Given the description of an element on the screen output the (x, y) to click on. 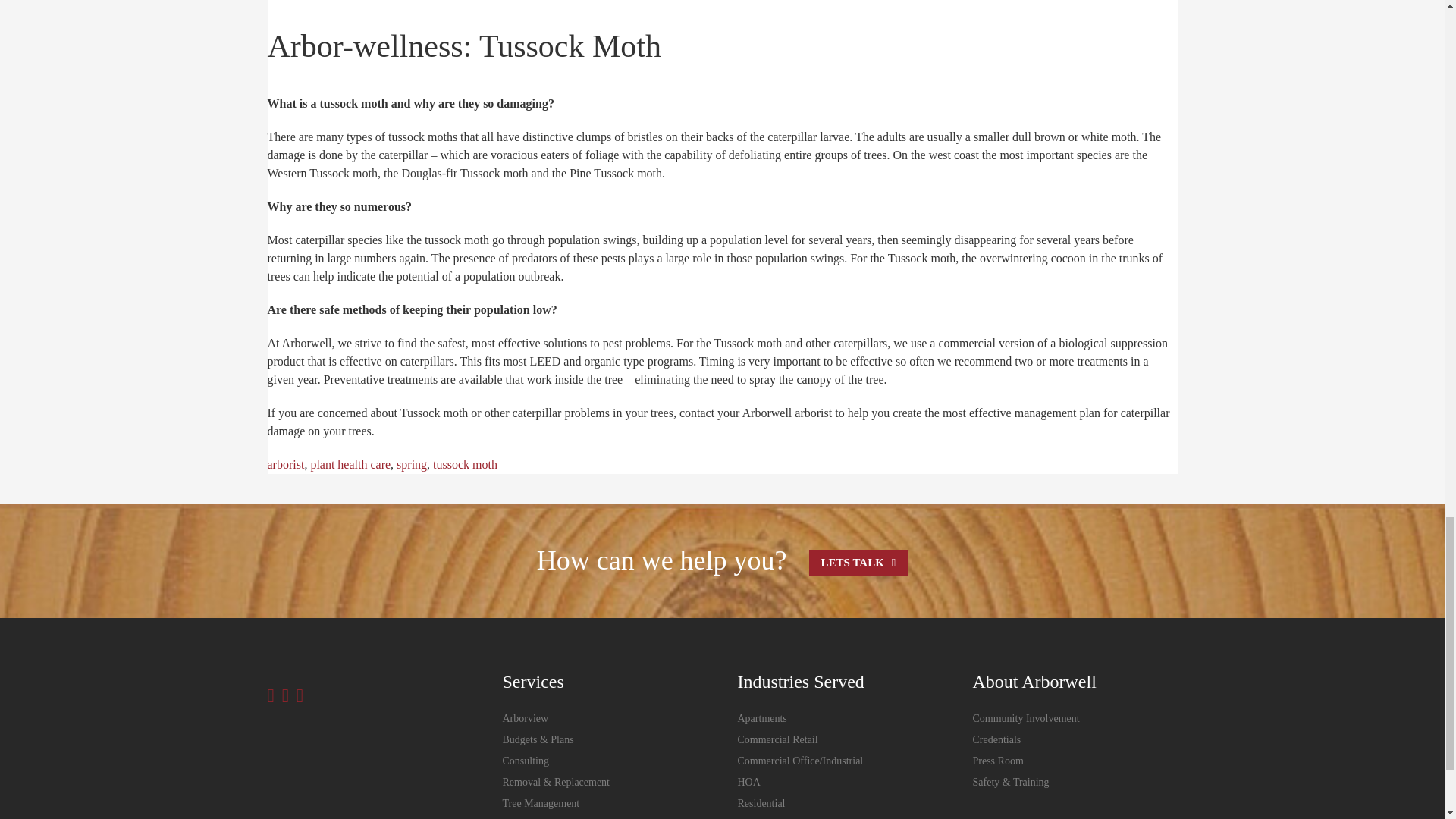
plant health care (350, 463)
spring (411, 463)
LETS TALK (858, 562)
Arbor-wellness: Tussock Moth (463, 45)
tussock moth (464, 463)
arborist (285, 463)
